Given the description of an element on the screen output the (x, y) to click on. 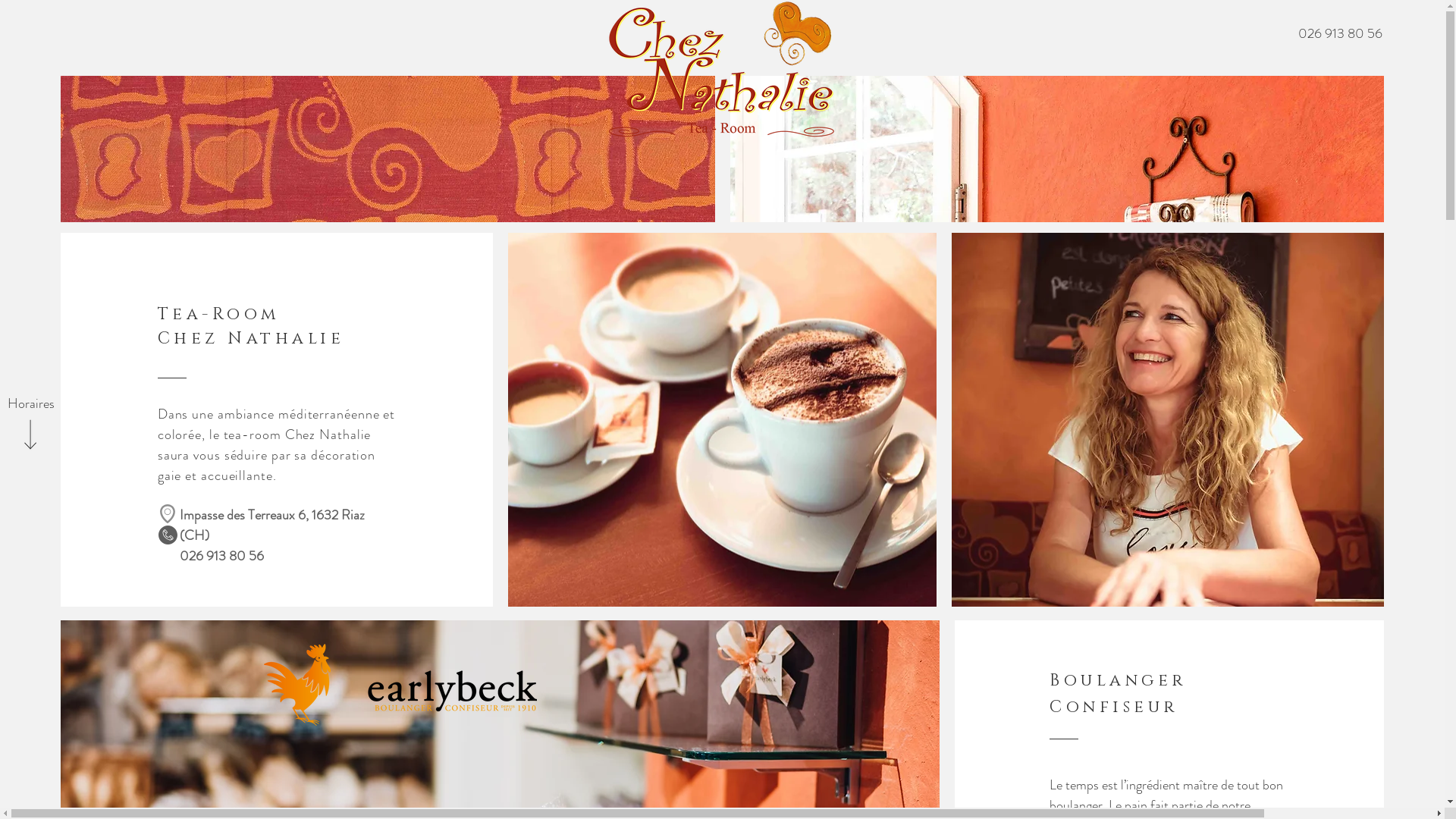
026 913 80 56 Element type: text (1339, 33)
Horaires Element type: text (30, 403)
026 913 80 56 Element type: text (221, 555)
Impasse des Terreaux 6, 1632 Riaz (CH) Element type: text (271, 525)
Restaurant Social Bar Element type: hover (75, 65)
